Given the description of an element on the screen output the (x, y) to click on. 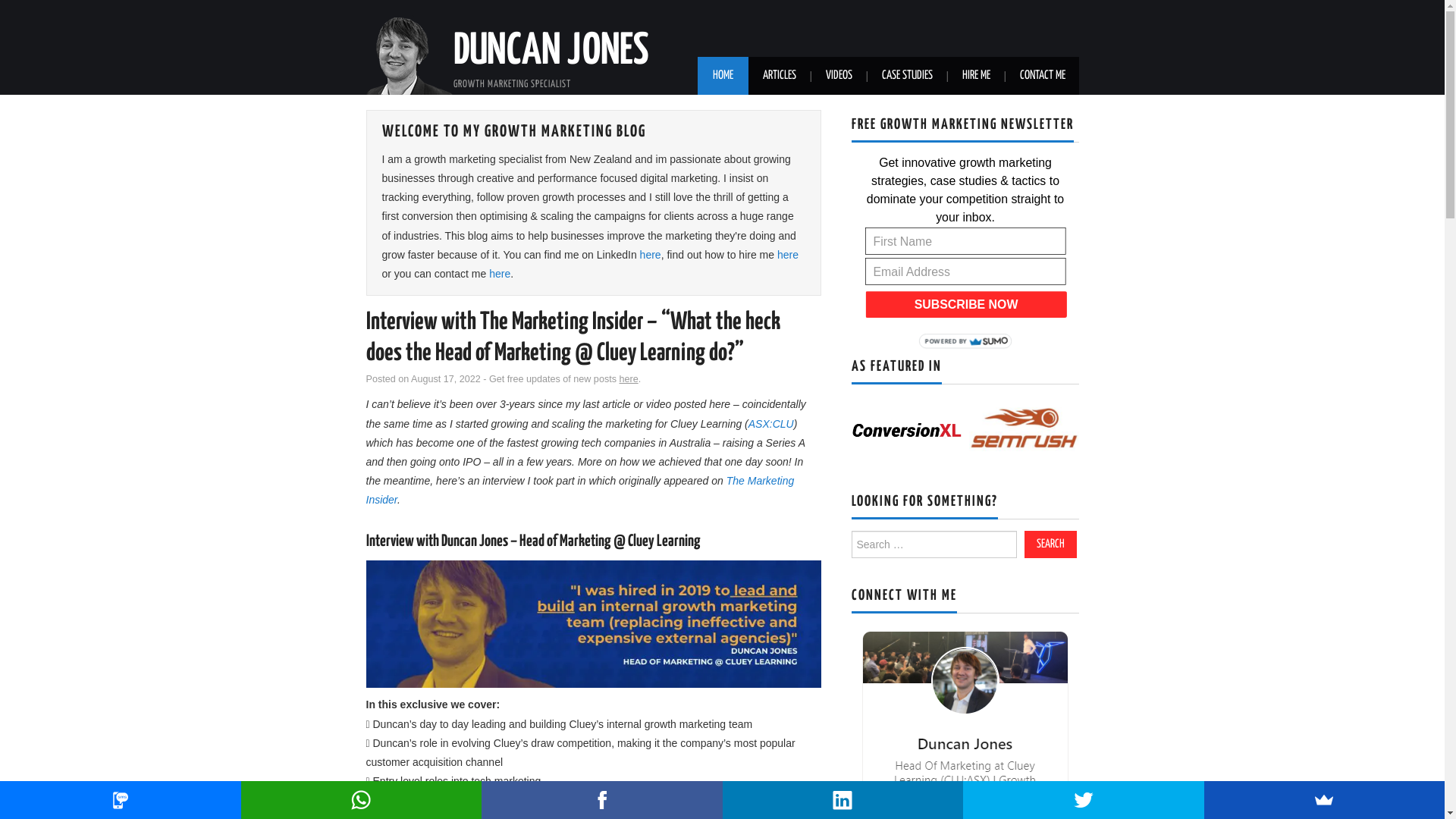
The Marketing Insider Element type: text (579, 489)
CASE STUDIES Element type: text (906, 75)
here Element type: text (787, 254)
here Element type: text (499, 273)
here Element type: text (627, 378)
August 17, 2022 Element type: text (445, 378)
Search for: Element type: hover (933, 544)
Search Element type: text (1049, 544)
HOME Element type: text (722, 75)
here Element type: text (650, 254)
DUNCAN JONES Element type: text (550, 51)
VIDEOS Element type: text (837, 75)
HIRE ME Element type: text (975, 75)
ASX:CLU Element type: text (770, 423)
CONTACT ME Element type: text (1041, 75)
ARTICLES Element type: text (779, 75)
